Given the description of an element on the screen output the (x, y) to click on. 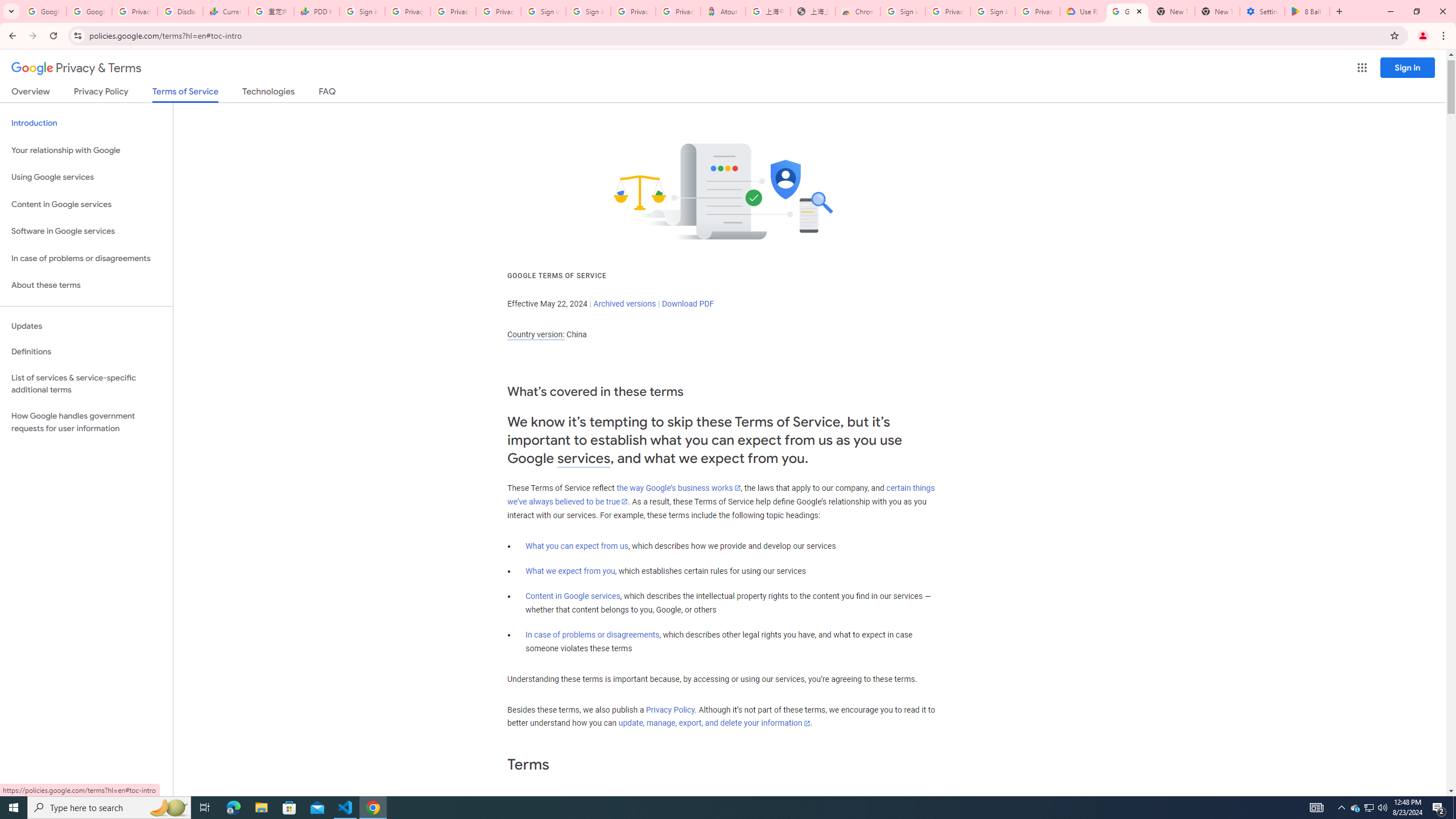
What we expect from you (570, 570)
Settings - System (1262, 11)
Google Workspace Admin Community (43, 11)
Privacy Checkup (452, 11)
Currencies - Google Finance (225, 11)
Archived versions (624, 303)
services (583, 458)
update, manage, export, and delete your information (714, 723)
